Given the description of an element on the screen output the (x, y) to click on. 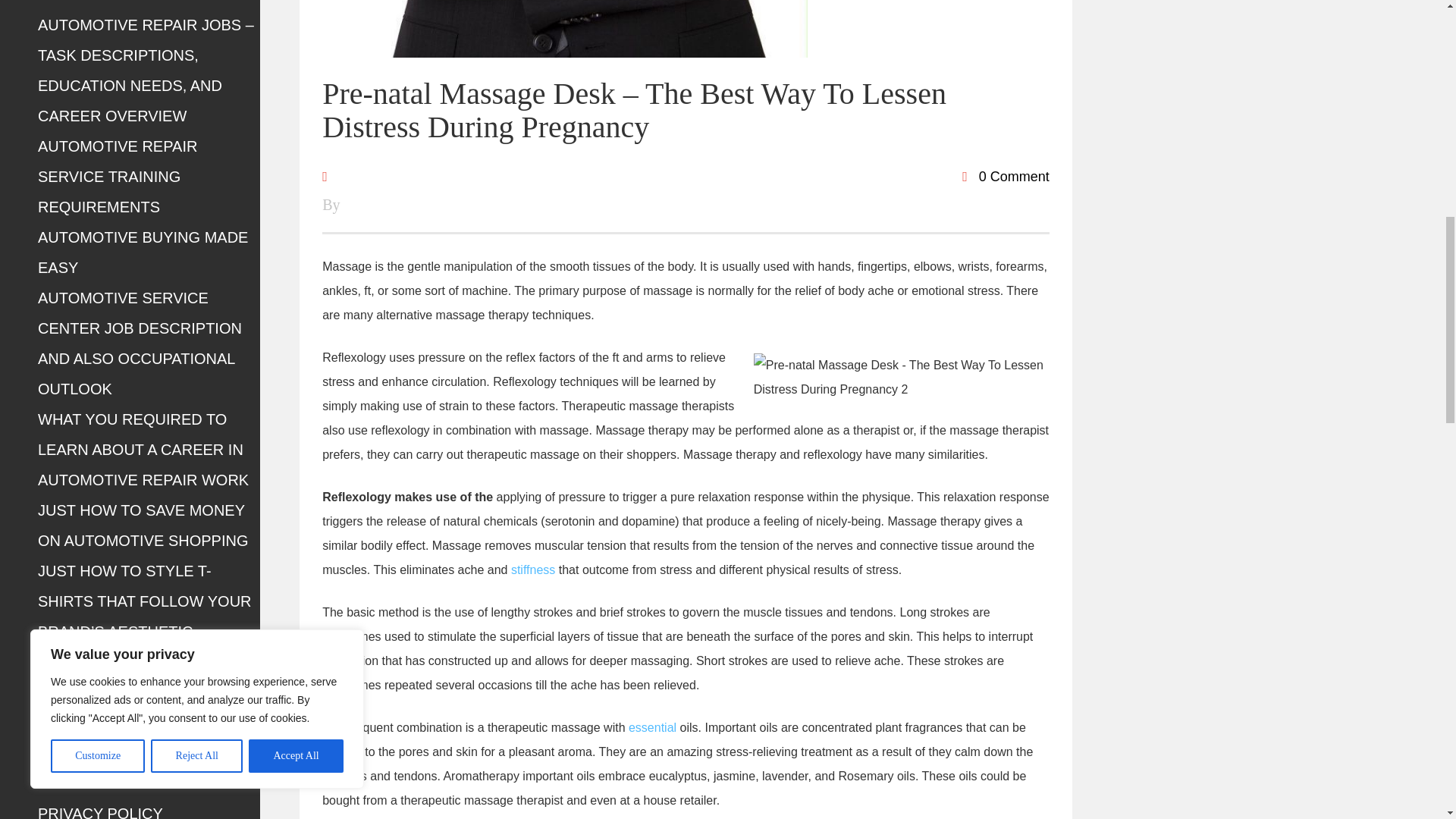
0 Comment (1005, 176)
essential (652, 727)
stiffness (532, 569)
